Given the description of an element on the screen output the (x, y) to click on. 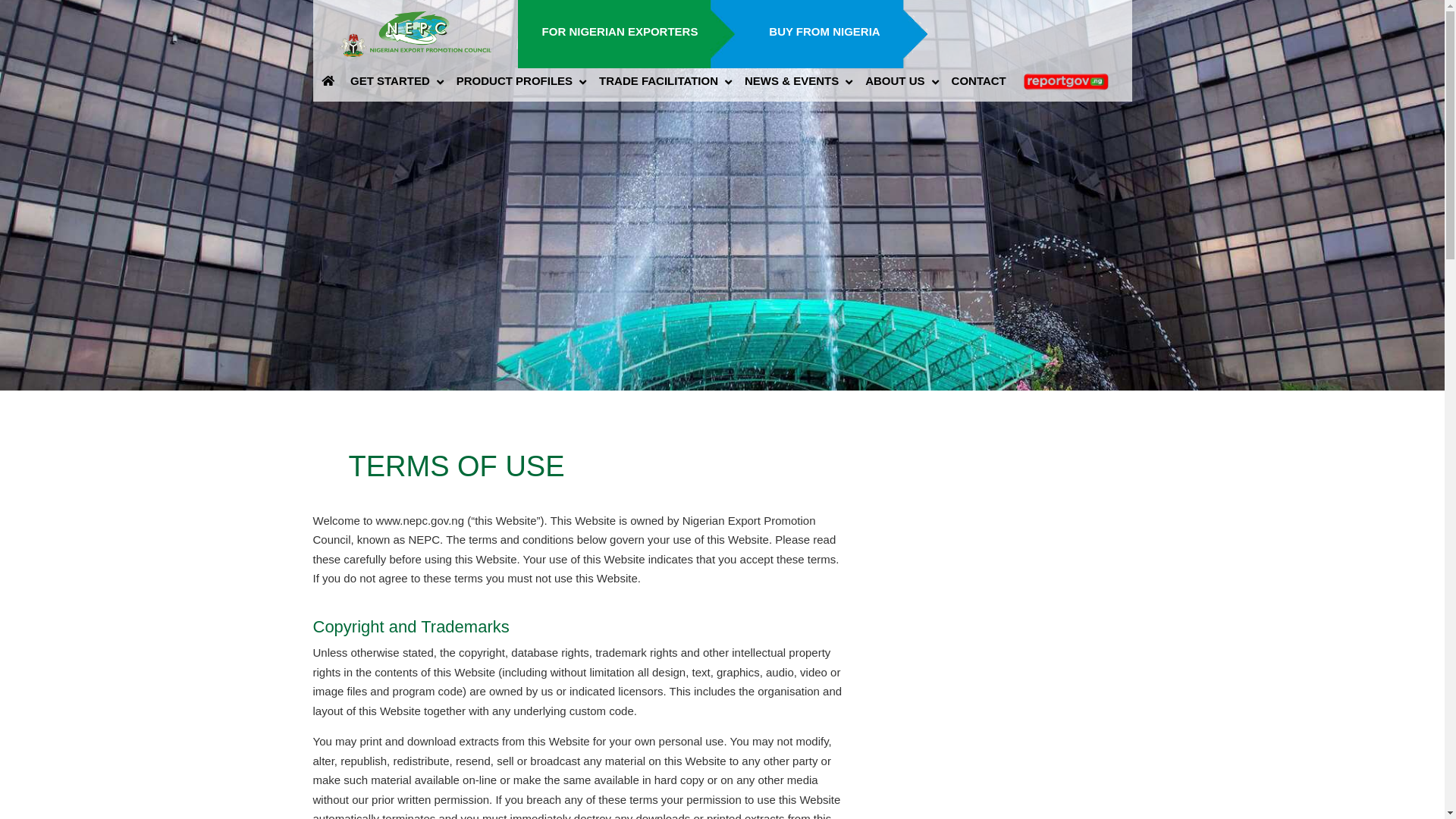
PRODUCT PROFILES (519, 80)
BUY FROM NIGERIA (823, 31)
FOR NIGERIAN EXPORTERS (619, 31)
TRADE FACILITATION (663, 80)
GET STARTED (395, 80)
